Given the description of an element on the screen output the (x, y) to click on. 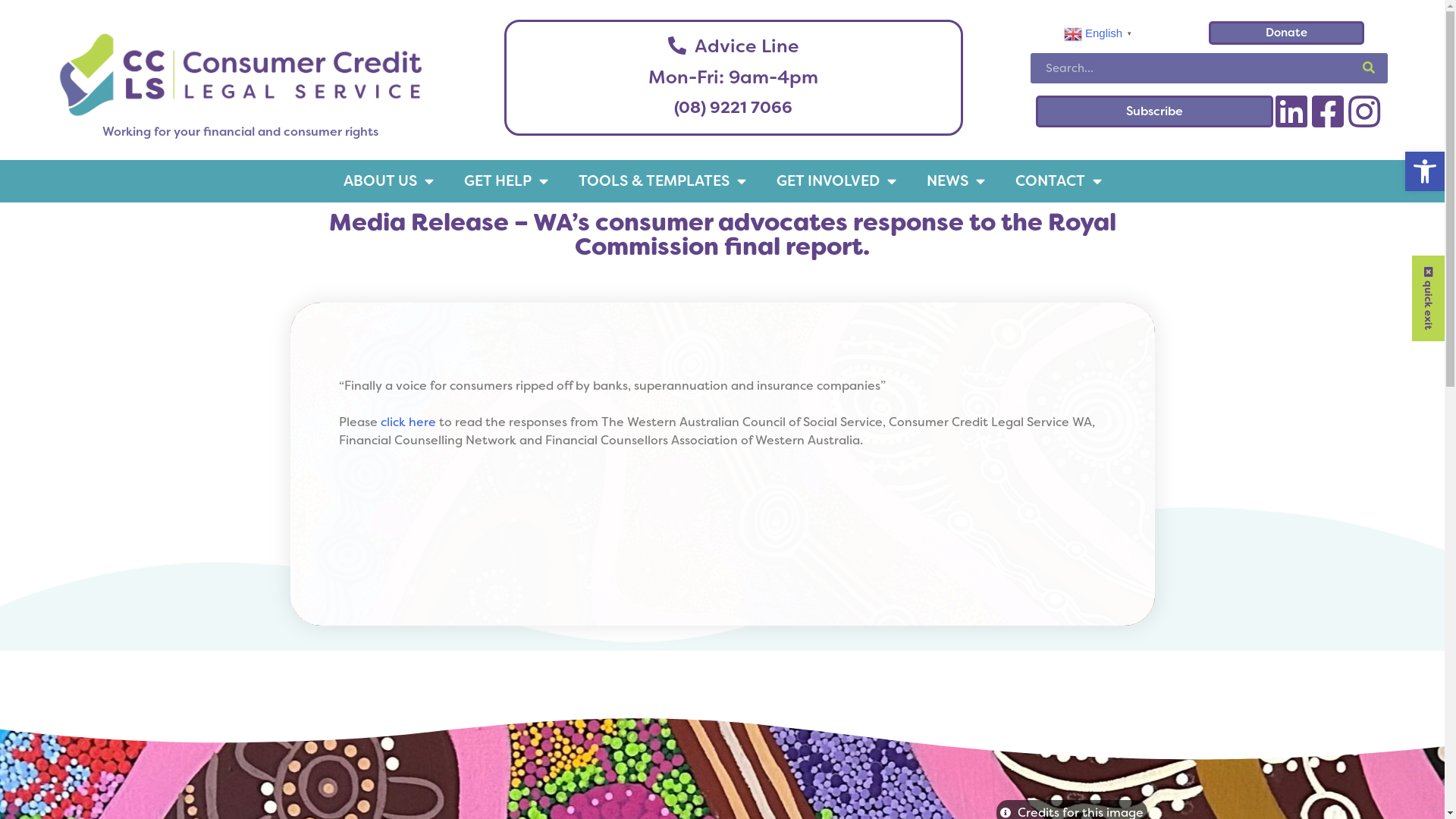
NEWS Element type: text (955, 180)
ABOUT US Element type: text (387, 180)
(08) 9221 7066 Element type: text (733, 107)
Subscribe Element type: text (1153, 111)
Open toolbar
Accessibility Tools Element type: text (1424, 171)
GET INVOLVED Element type: text (836, 180)
click here Element type: text (408, 421)
TOOLS & TEMPLATES Element type: text (661, 180)
CONTACT Element type: text (1057, 180)
Donate Element type: text (1286, 32)
GET HELP Element type: text (505, 180)
